Given the description of an element on the screen output the (x, y) to click on. 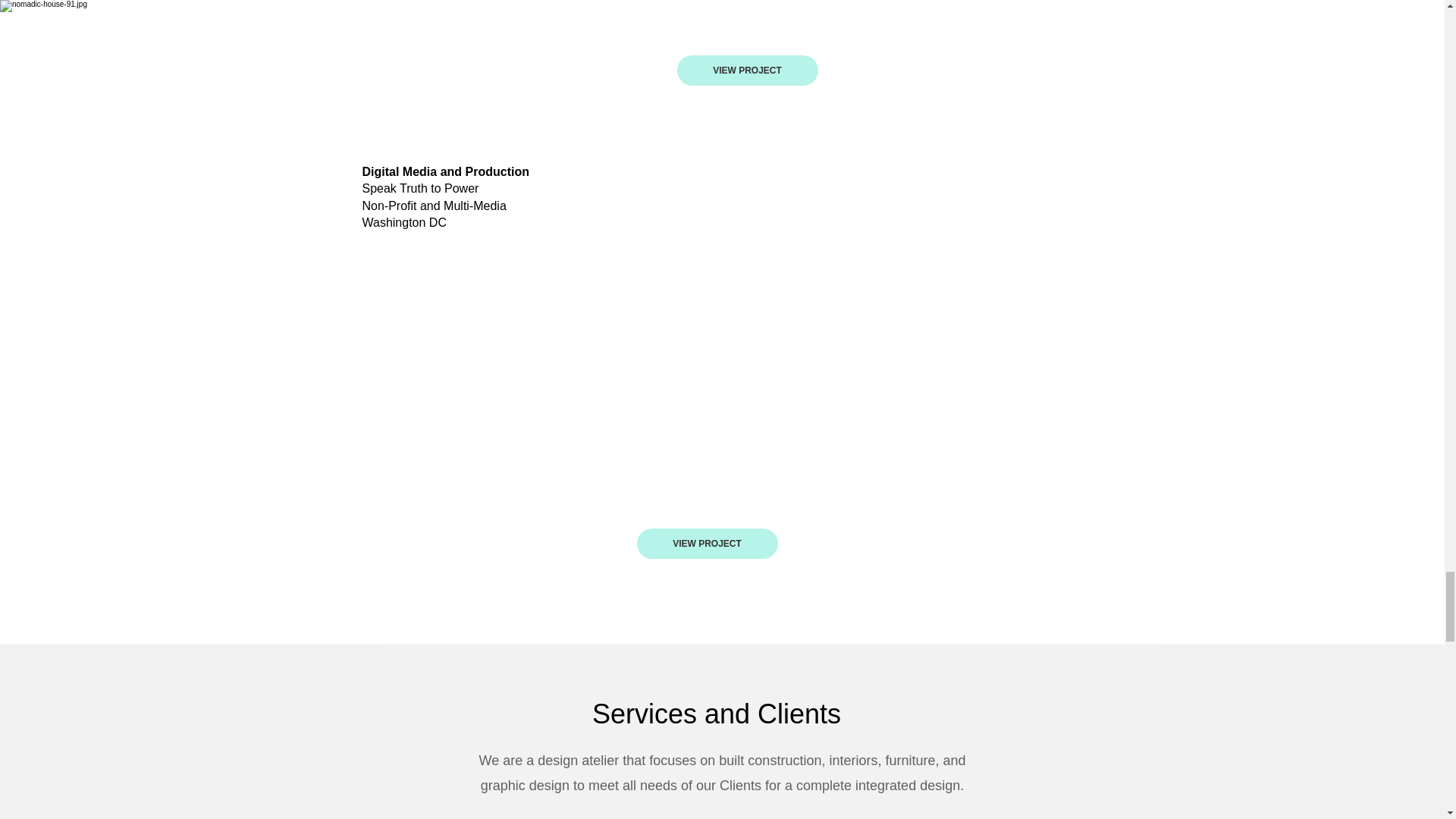
VIEW PROJECT (707, 543)
VIEW PROJECT (746, 70)
